Given the description of an element on the screen output the (x, y) to click on. 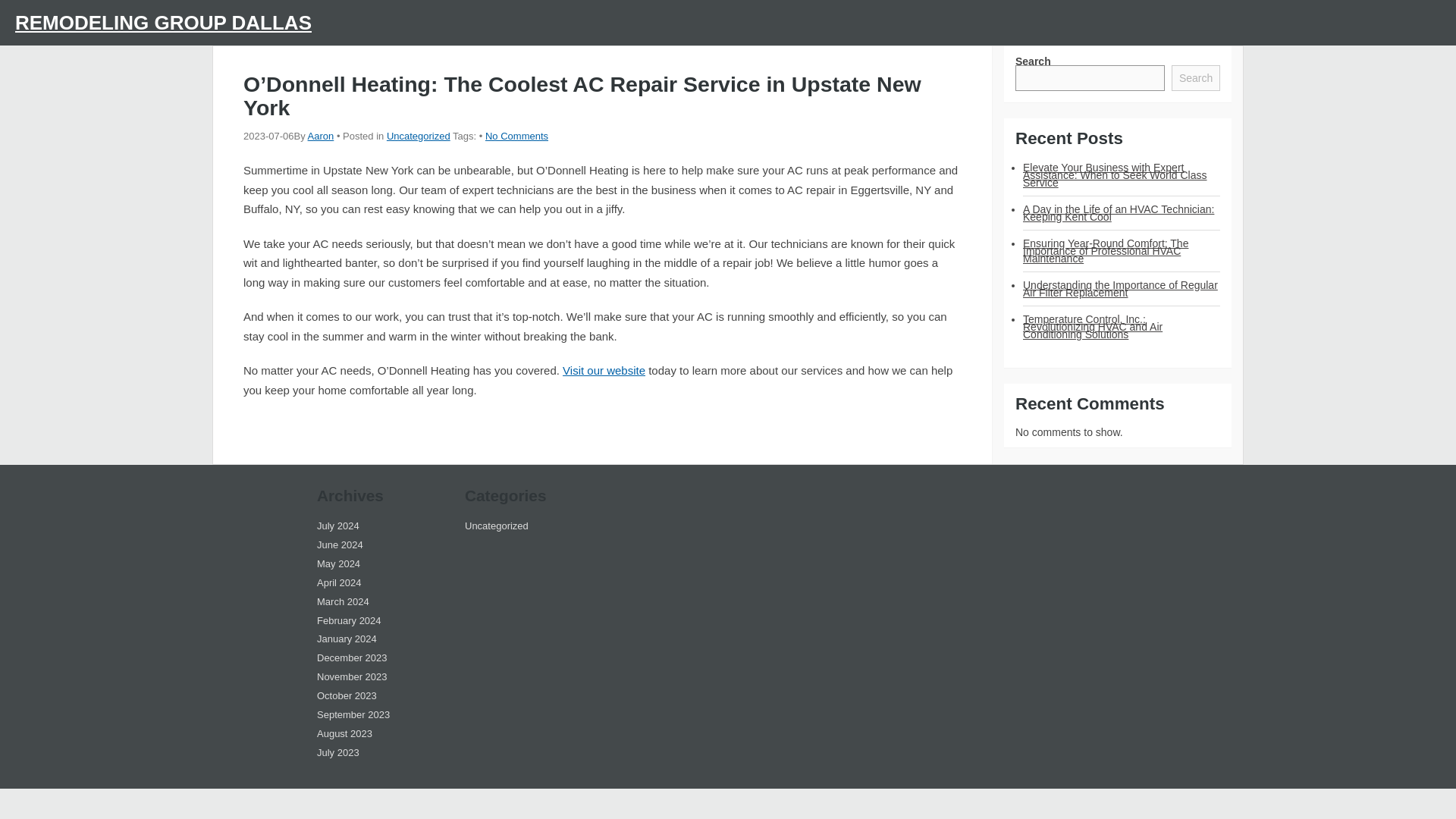
July 2024 (338, 525)
July 2023 (338, 752)
No Comments (516, 135)
Uncategorized (418, 135)
Uncategorized (496, 525)
November 2023 (352, 676)
February 2024 (349, 620)
October 2023 (347, 695)
December 2023 (352, 657)
REMODELING GROUP DALLAS (162, 22)
Search (1196, 77)
March 2024 (343, 601)
Posts by Aaron (320, 135)
